Given the description of an element on the screen output the (x, y) to click on. 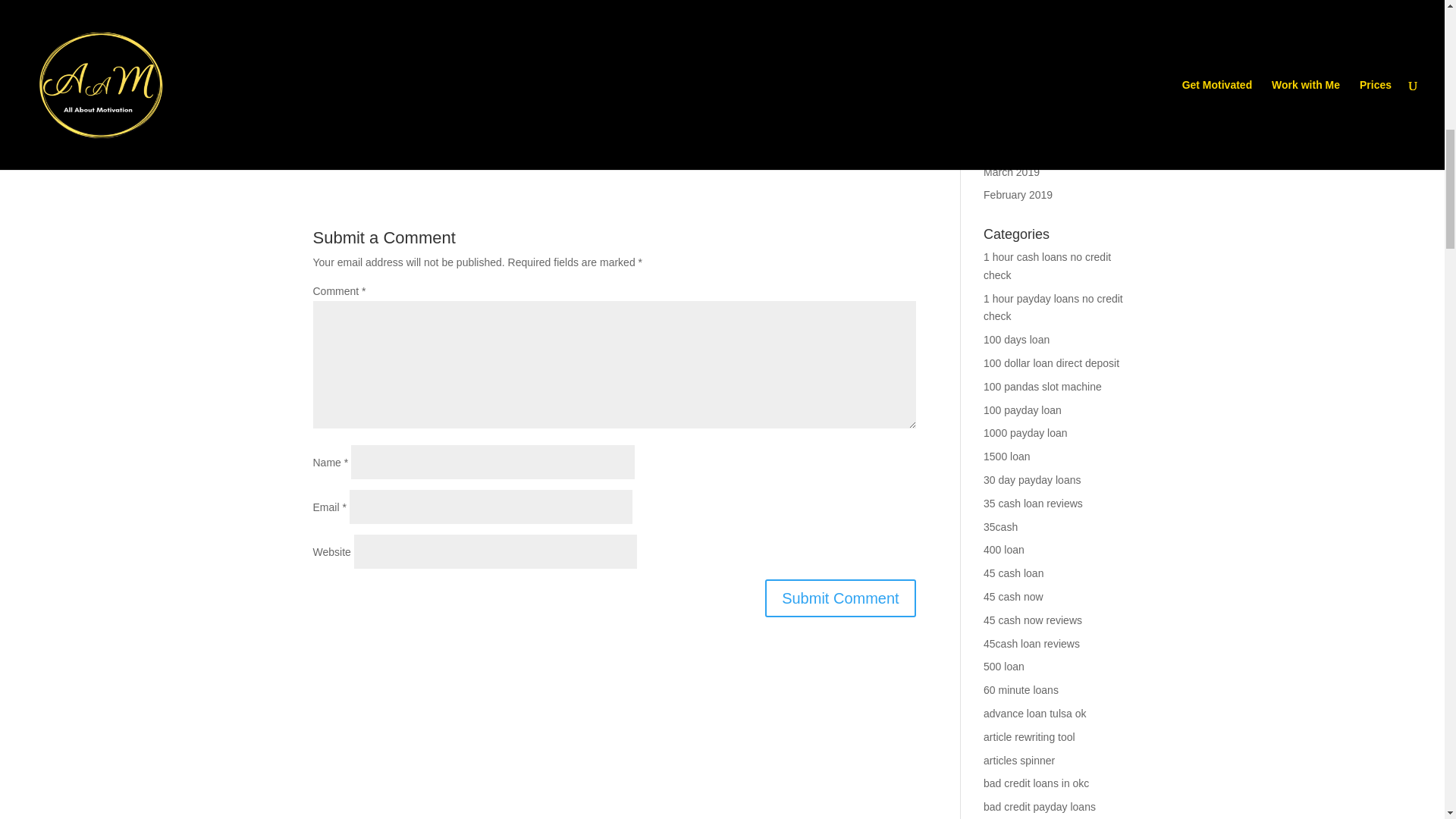
June 2019 (1008, 101)
February 2019 (1018, 194)
September 2019 (1023, 31)
March 2019 (1011, 171)
April 2019 (1007, 148)
July 2019 (1006, 78)
August 2019 (1013, 55)
Submit Comment (840, 598)
Submit Comment (840, 598)
May 2019 (1006, 124)
October 2019 (1016, 8)
